Given the description of an element on the screen output the (x, y) to click on. 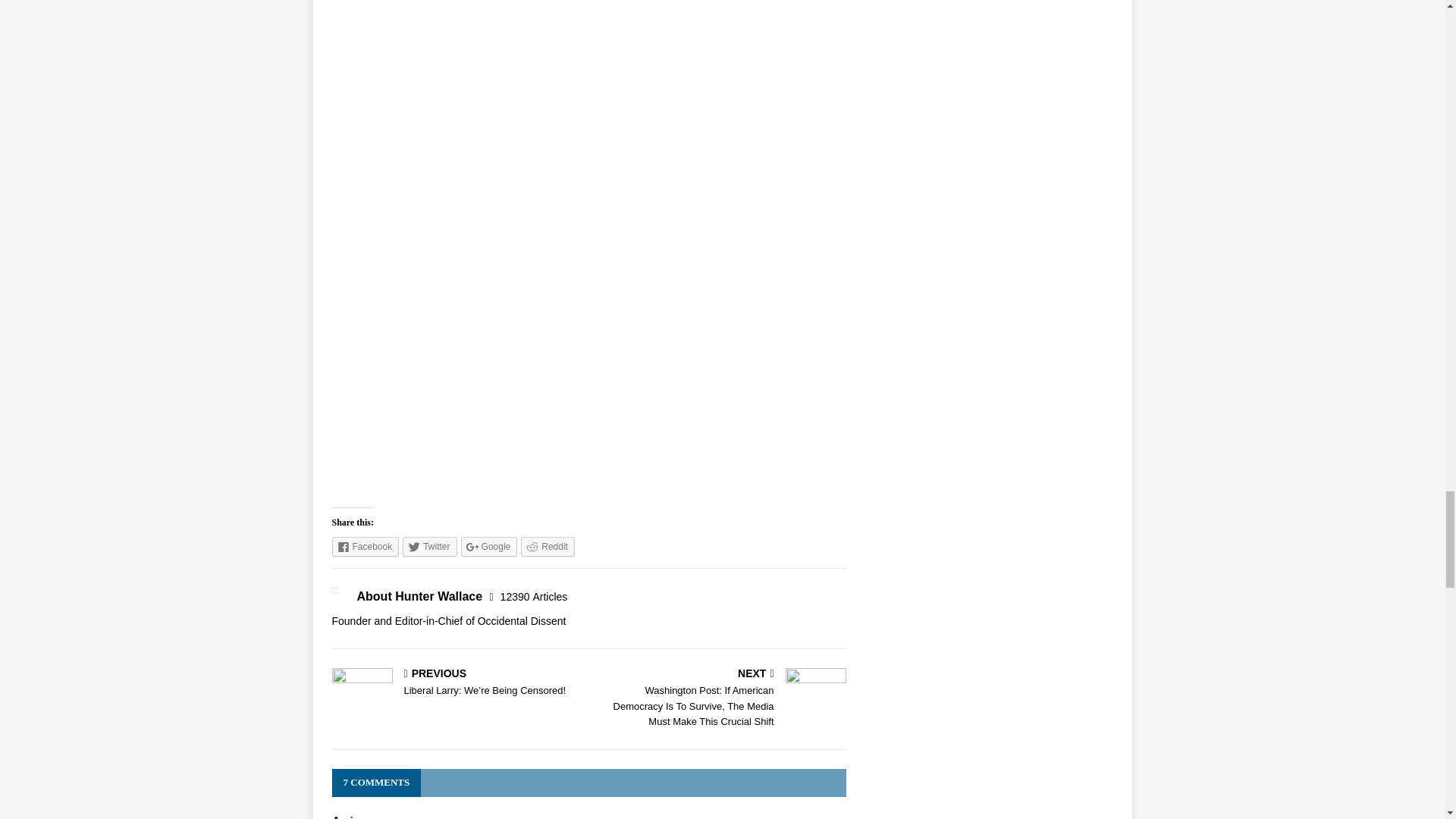
Click to share on Facebook (364, 546)
Click to share on Twitter (430, 546)
Click to share on Reddit (548, 546)
Facebook (364, 546)
More articles written by Hunter Wallace' (533, 596)
